Given the description of an element on the screen output the (x, y) to click on. 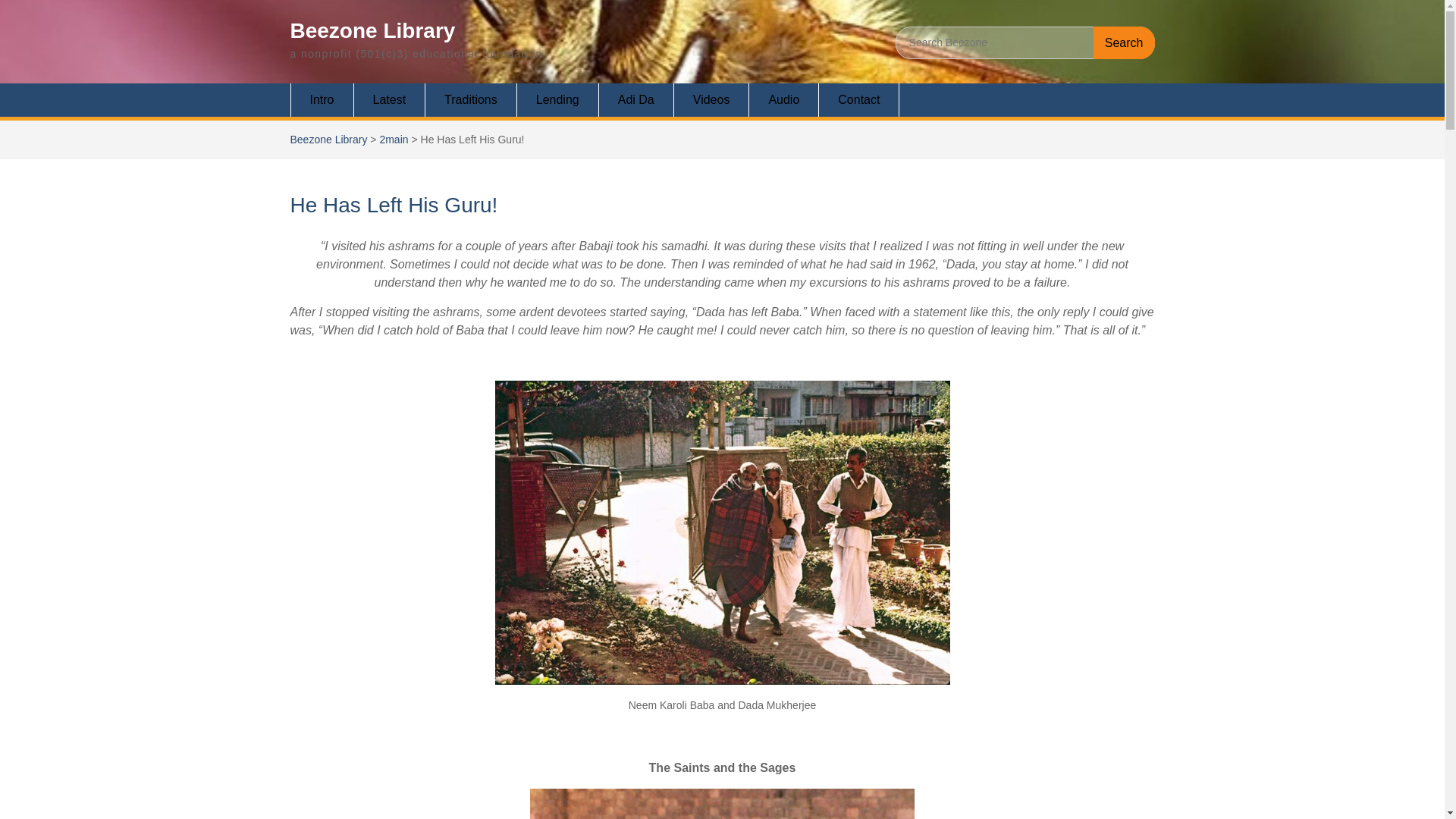
Search for: (1024, 42)
Adi Da (636, 100)
Search (1123, 42)
Contact (858, 100)
Search (1123, 42)
2main (392, 139)
Search (1123, 42)
Beezone Library (327, 139)
Traditions (470, 100)
Latest (389, 100)
